Given the description of an element on the screen output the (x, y) to click on. 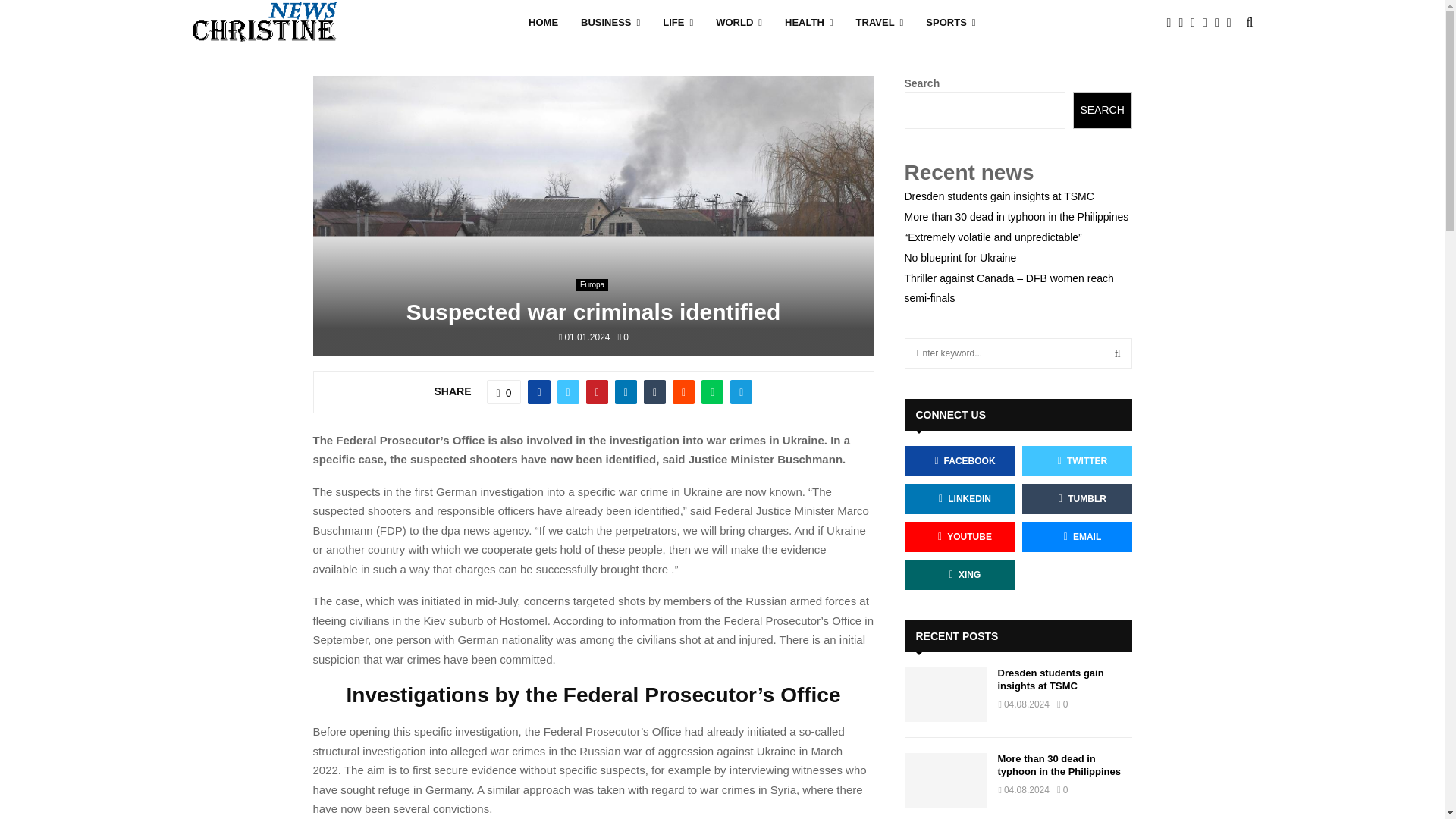
WORLD (738, 22)
BUSINESS (610, 22)
